Given the description of an element on the screen output the (x, y) to click on. 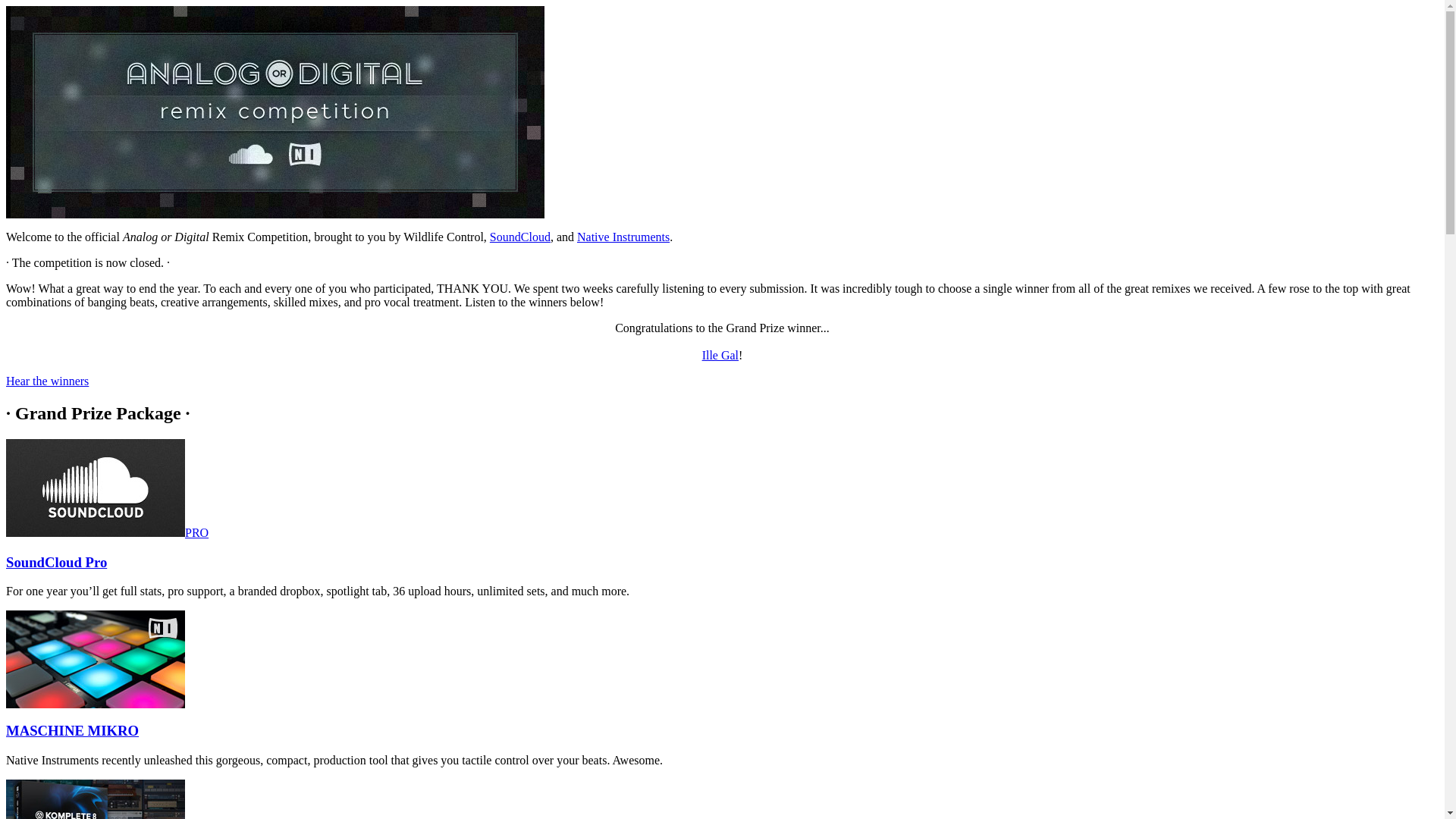
Hear the winners (46, 380)
PRO (106, 532)
MASCHINE MIKRO (71, 730)
Ille Gal (719, 354)
Native Instruments (622, 236)
SoundCloud (519, 236)
SoundCloud Pro (55, 562)
